Given the description of an element on the screen output the (x, y) to click on. 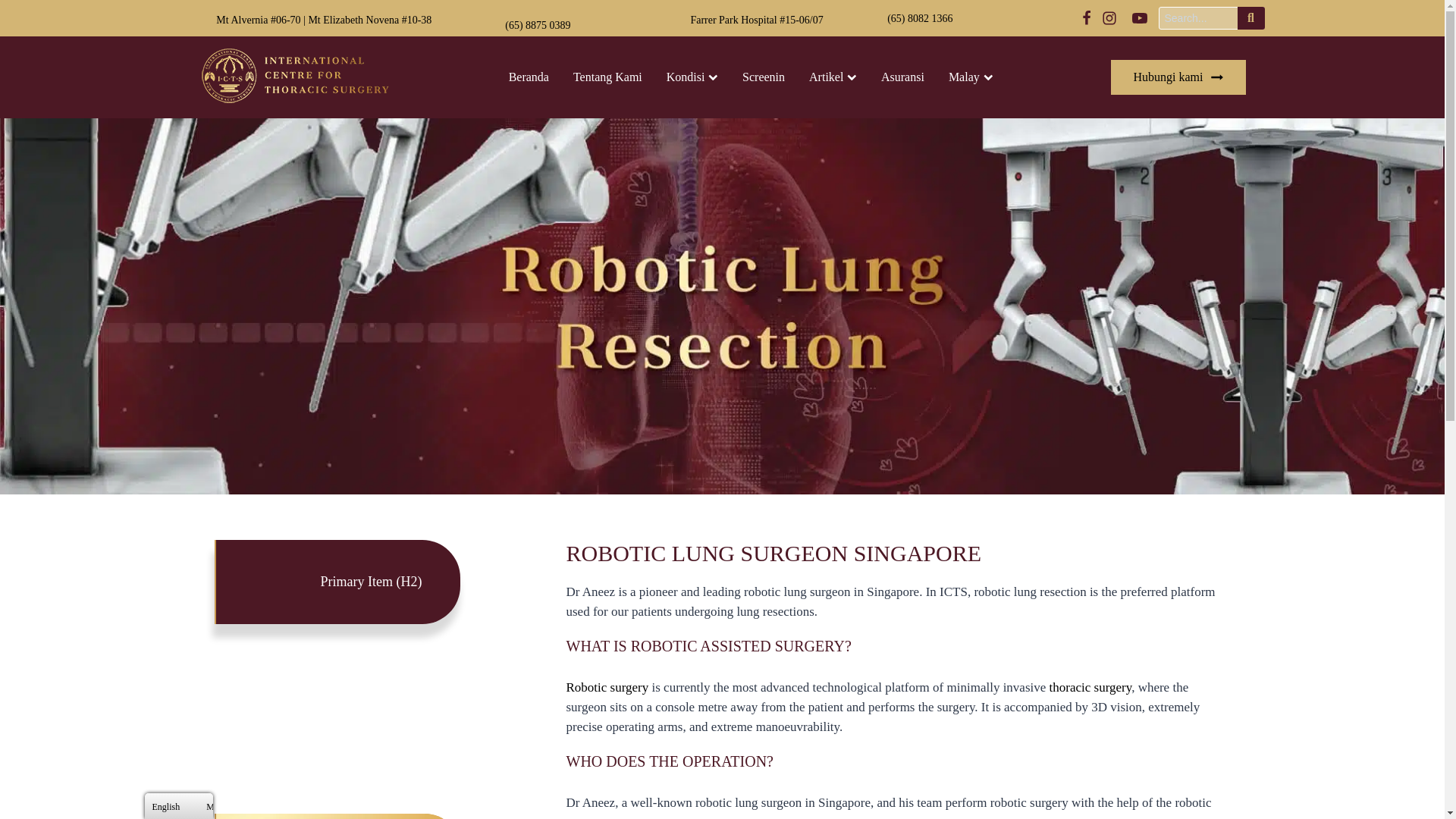
Screenin (763, 77)
Tentang Kami (606, 77)
Asuransi (902, 77)
Kondisi (691, 77)
Beranda (528, 77)
Malay (970, 77)
Artikel (832, 77)
Search (1251, 17)
